Given the description of an element on the screen output the (x, y) to click on. 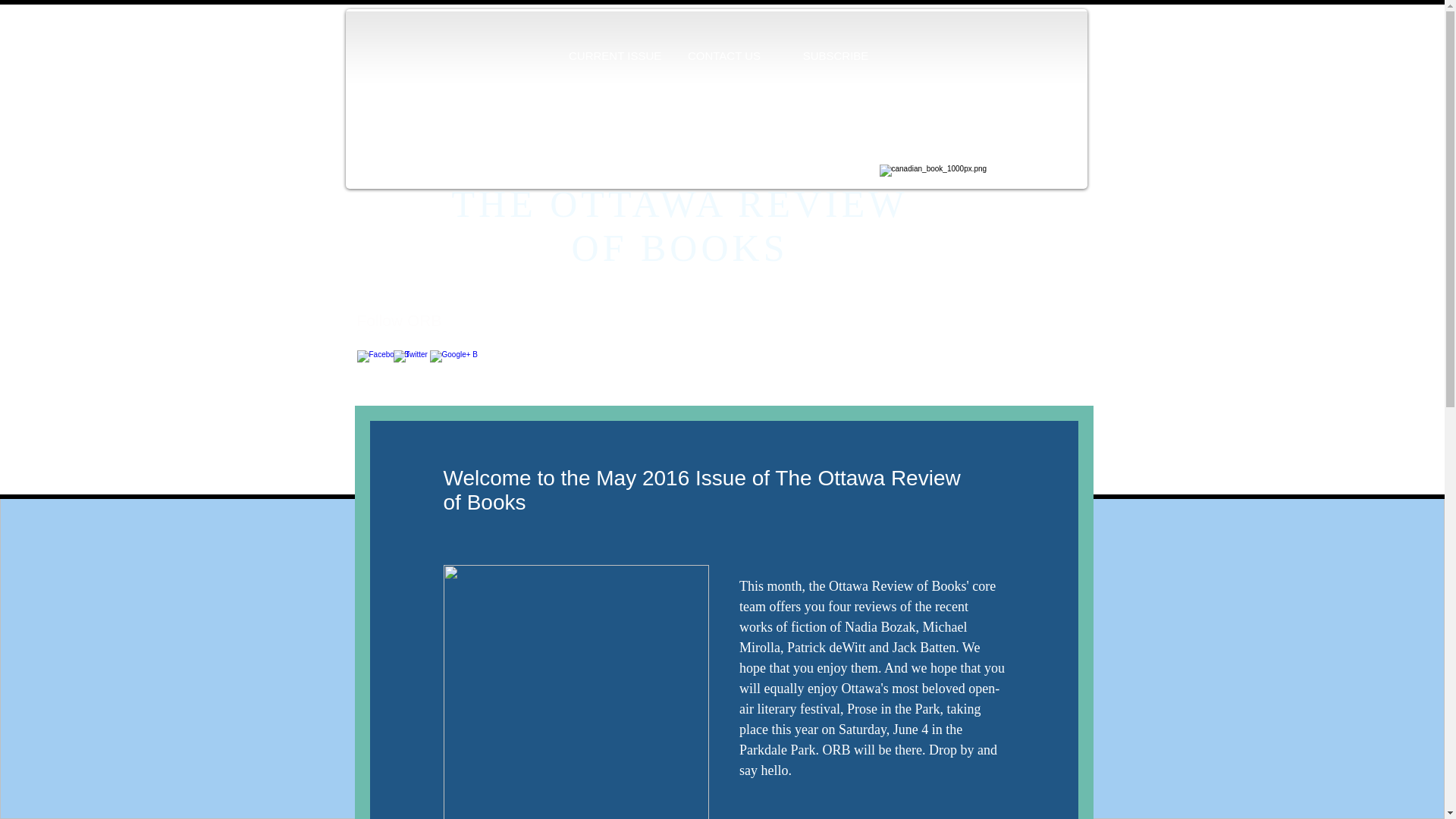
SUBSCRIBE (834, 55)
THE OTTAWA REVIEW OF BOOKS (679, 225)
CONTACT US (723, 55)
CURRENT ISSUE (612, 55)
